Given the description of an element on the screen output the (x, y) to click on. 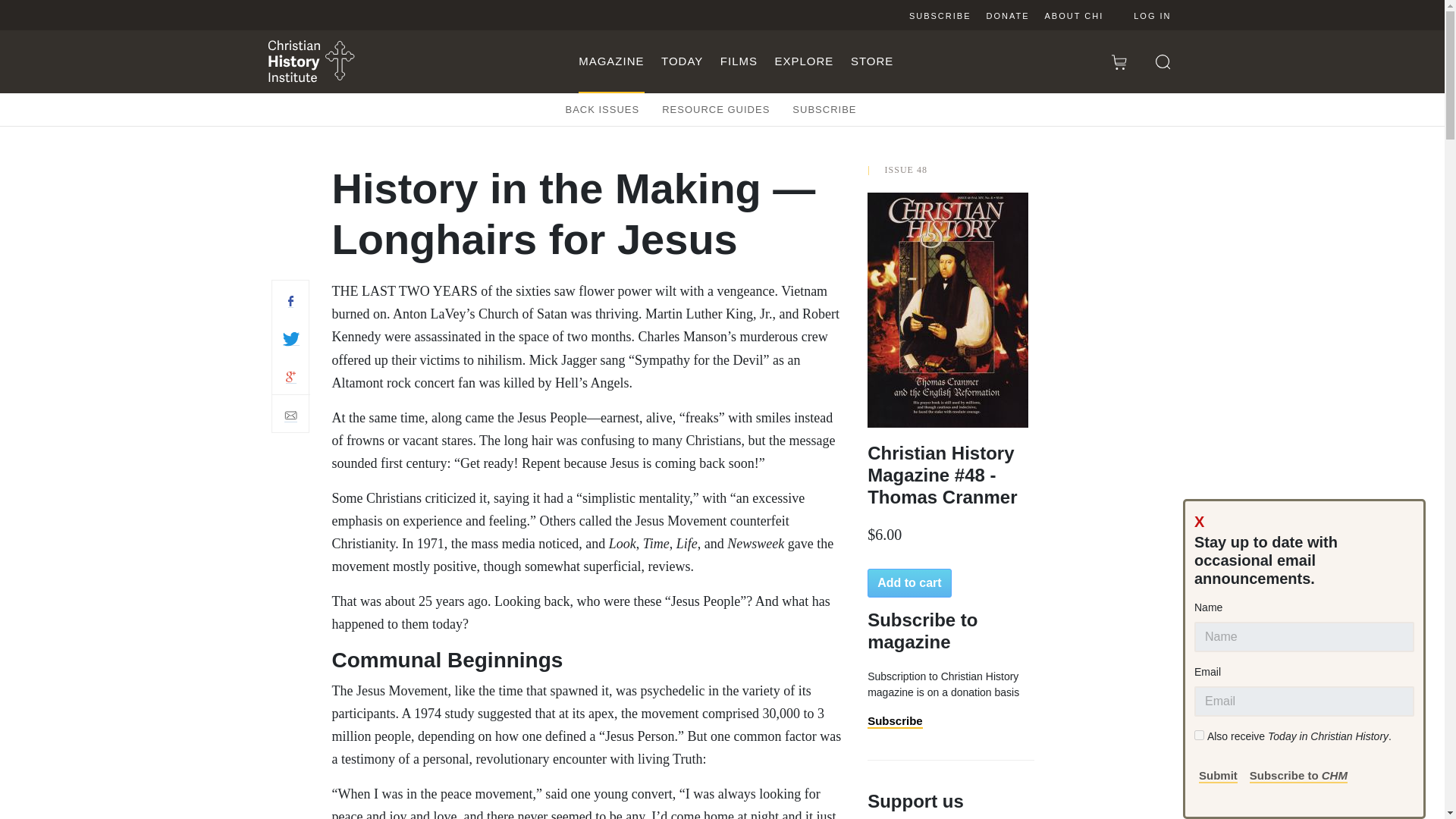
DONATE (1007, 15)
Subscribe to CHM (1298, 775)
SUBSCRIBE (824, 109)
Submit (1217, 775)
X (1198, 520)
MAGAZINE (610, 61)
FILMS (738, 61)
RESOURCE GUIDES (716, 109)
Subscribe to CHM (1298, 775)
LOG IN (1140, 15)
ABOUT CHI (1074, 15)
BACK ISSUES (603, 109)
STORE (871, 61)
EXPLORE (804, 61)
